Given the description of an element on the screen output the (x, y) to click on. 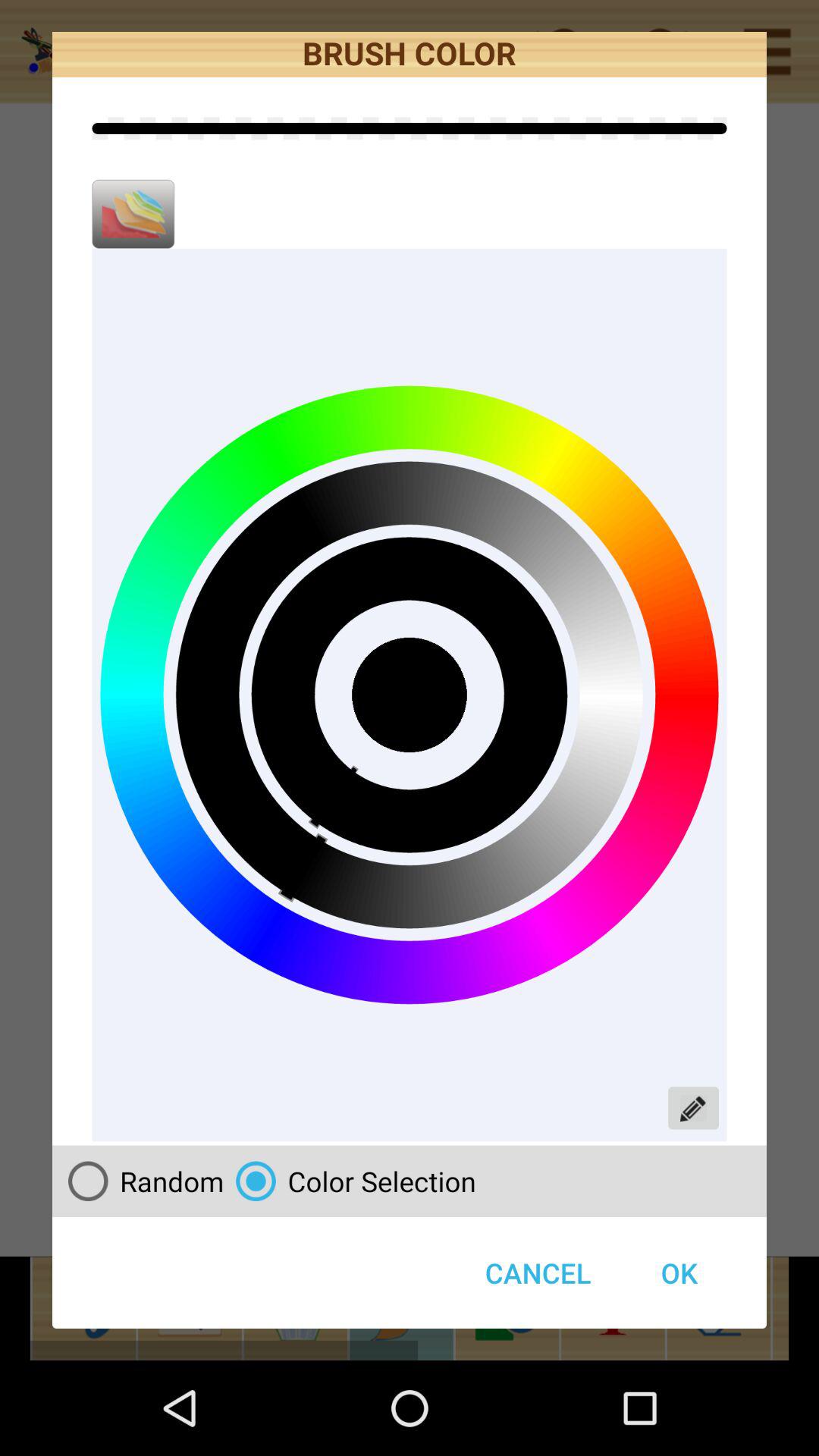
launch button next to ok (350, 1181)
